Given the description of an element on the screen output the (x, y) to click on. 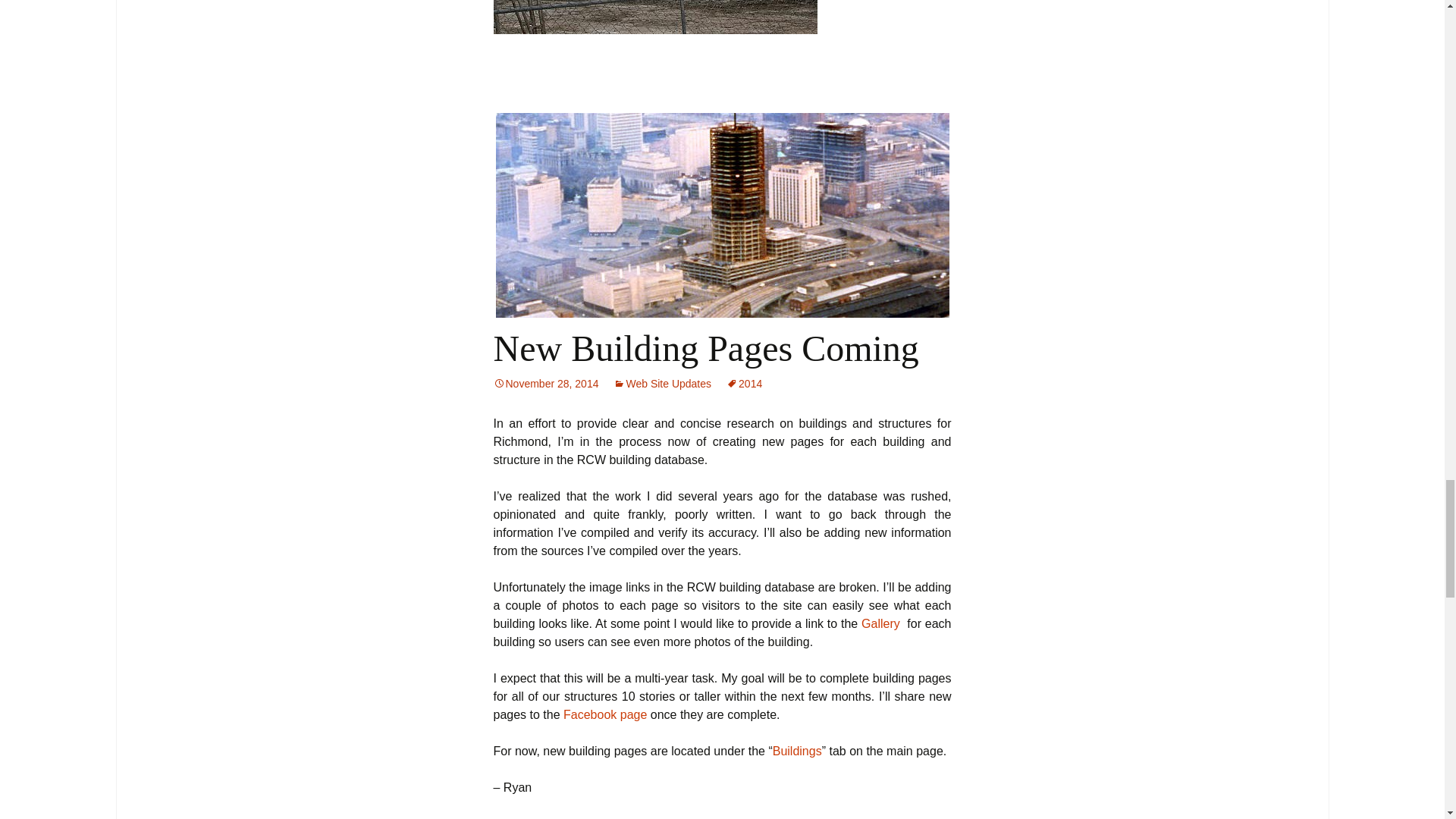
RCW Gallery (880, 623)
New Building Pages Coming (705, 348)
2014 (743, 383)
Web Site Updates (661, 383)
Permalink to New Building Pages Coming (545, 383)
November 28, 2014 (545, 383)
